Given the description of an element on the screen output the (x, y) to click on. 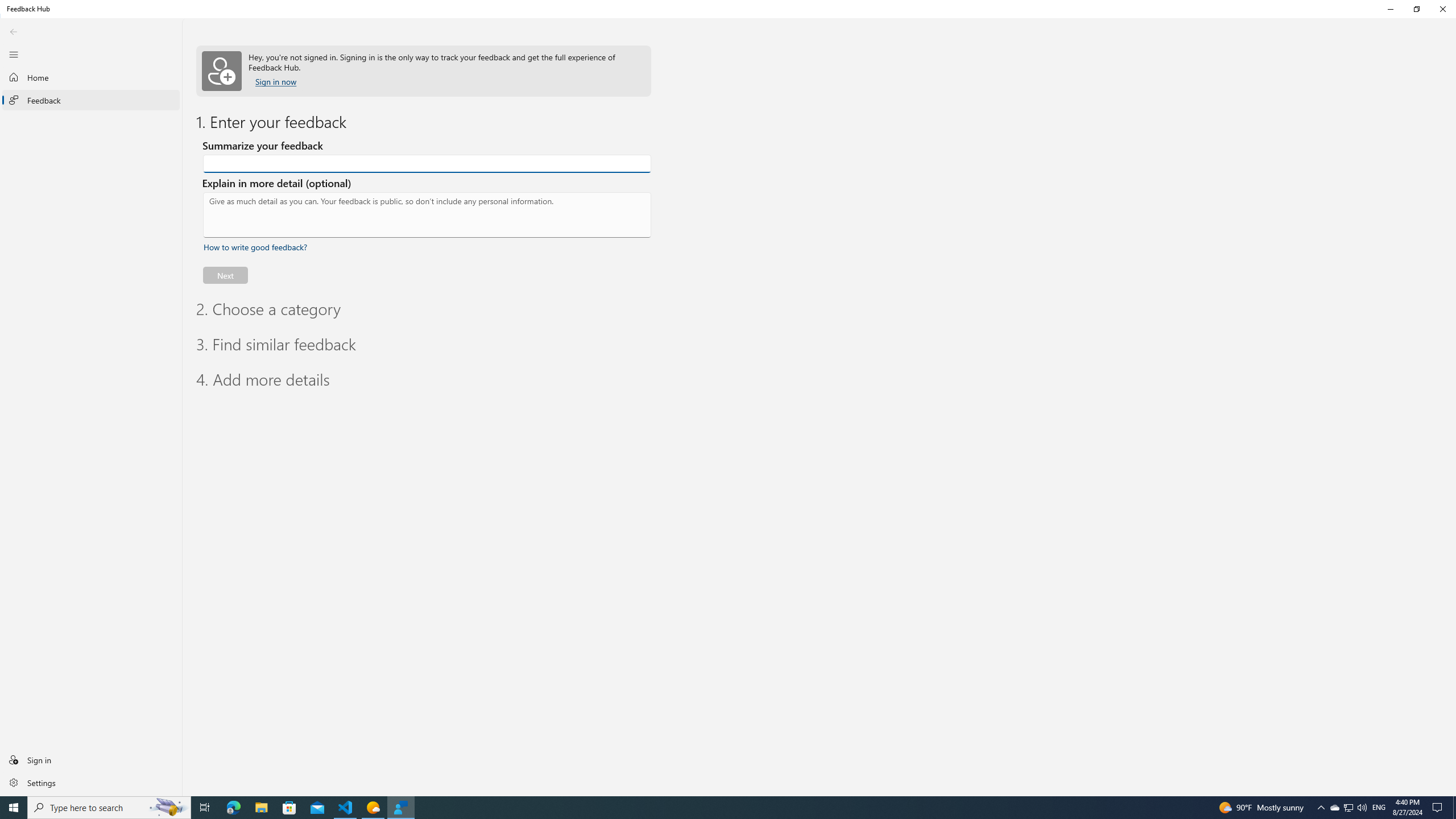
Summarize your feedback (426, 163)
File Explorer (261, 807)
Feedback (90, 100)
Sign in (90, 759)
Search highlights icon opens search home window (167, 807)
Microsoft Edge (1347, 807)
Action Center, No new notifications (233, 807)
Explain in more detail (optional) (1439, 807)
Q2790: 100% (426, 214)
Settings (1361, 807)
Notification Chevron (1333, 807)
